Given the description of an element on the screen output the (x, y) to click on. 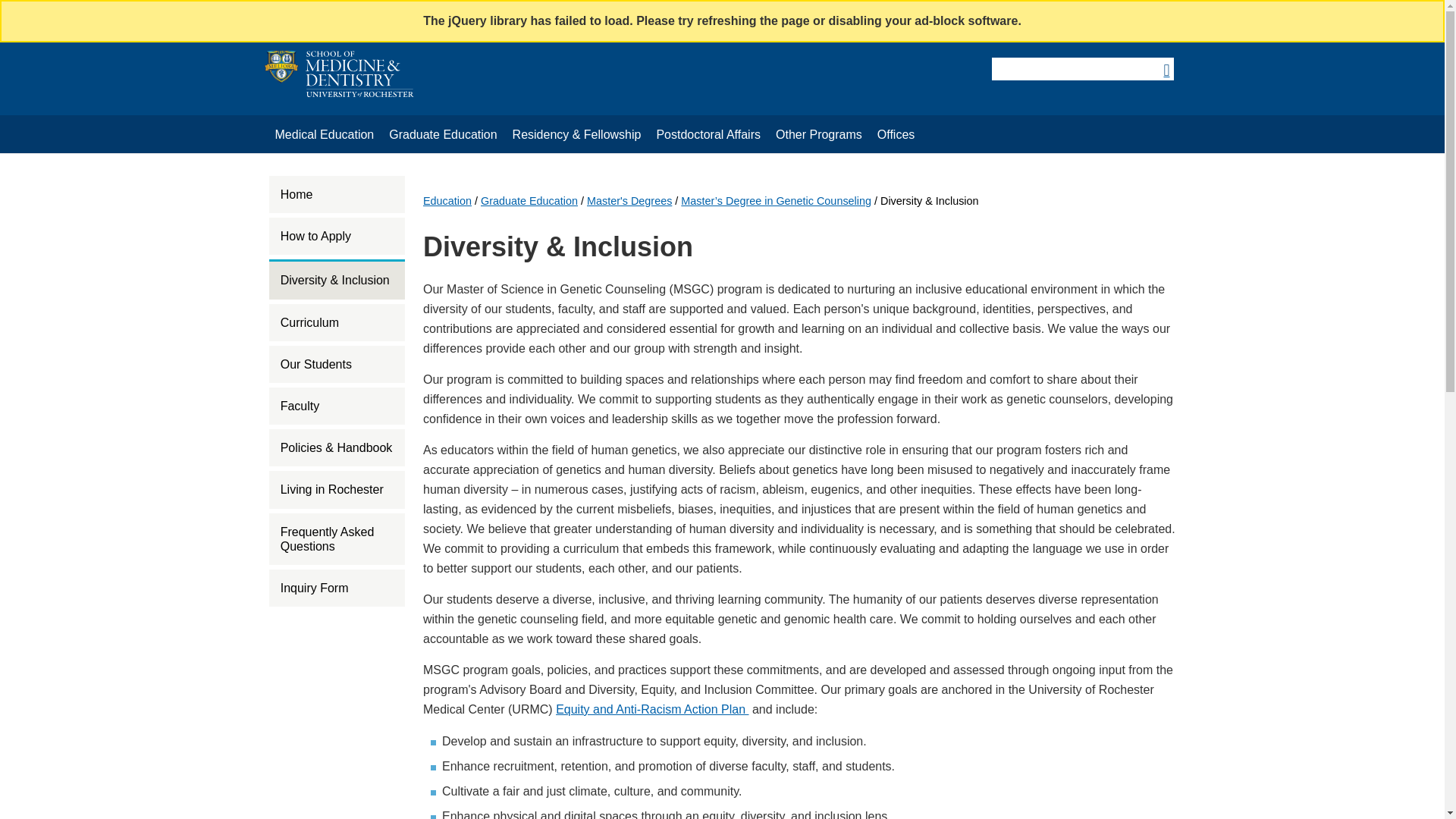
Graduate Education Programs (442, 135)
Medical Education (323, 135)
Medical Education (323, 135)
Search URMC (1080, 68)
Graduate Education (442, 135)
